Given the description of an element on the screen output the (x, y) to click on. 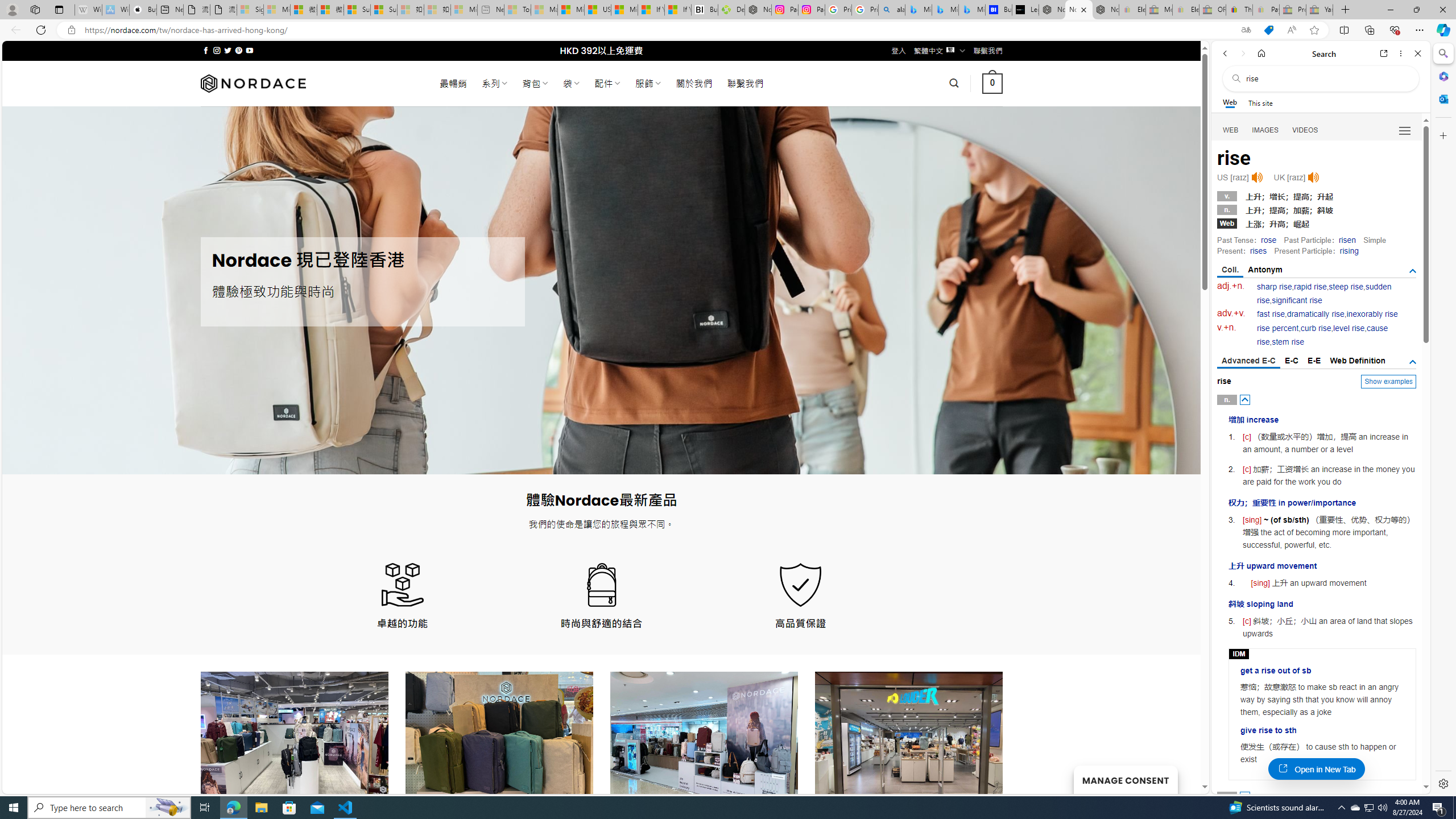
Show translate options (1245, 29)
risen (1347, 239)
Web scope (1230, 102)
Buy iPad - Apple (143, 9)
Forward (1242, 53)
Coll. (1230, 270)
Web Definition (1357, 360)
rose (1268, 239)
AutomationID: tgdef (1412, 362)
